Given the description of an element on the screen output the (x, y) to click on. 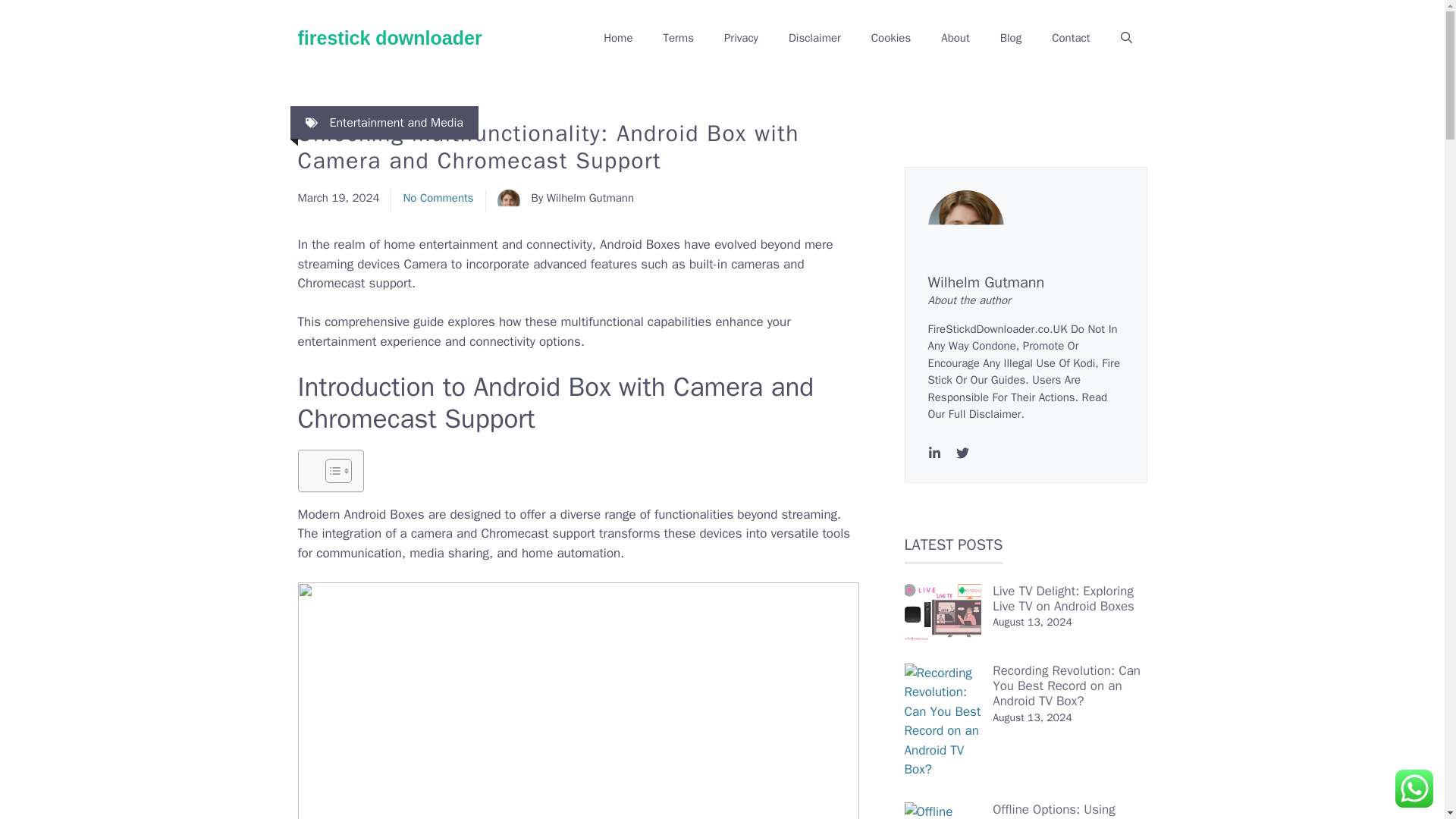
Contact (1070, 37)
Privacy (741, 37)
Cookies (891, 37)
Terms (677, 37)
Home (617, 37)
Disclaimer (814, 37)
Blog (1010, 37)
firestick downloader (389, 37)
About (955, 37)
Entertainment and Media (396, 122)
